Given the description of an element on the screen output the (x, y) to click on. 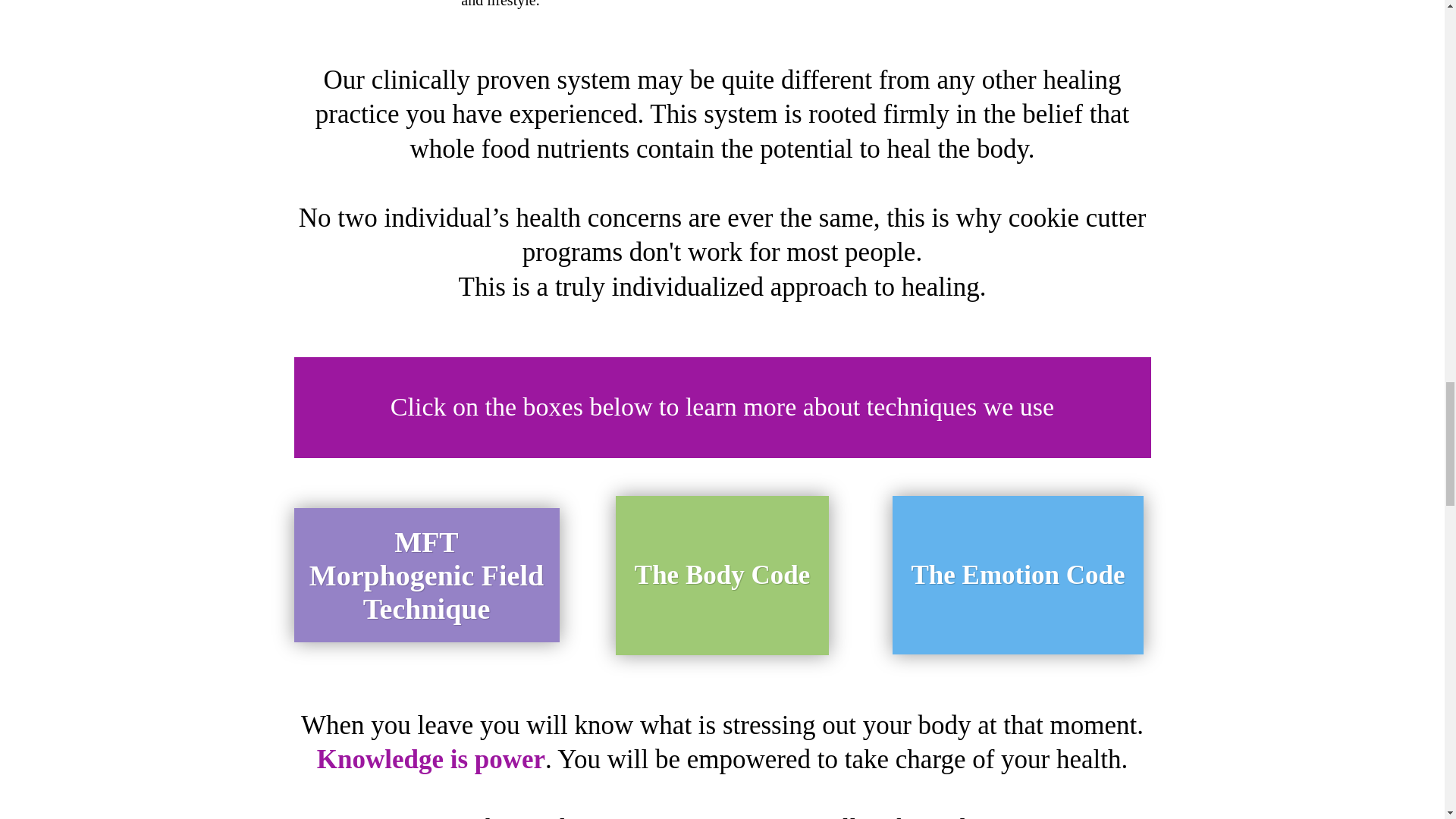
MFT Morphogenic Field Technique (426, 574)
The Body Code (721, 575)
The Emotion Code (1018, 575)
